Given the description of an element on the screen output the (x, y) to click on. 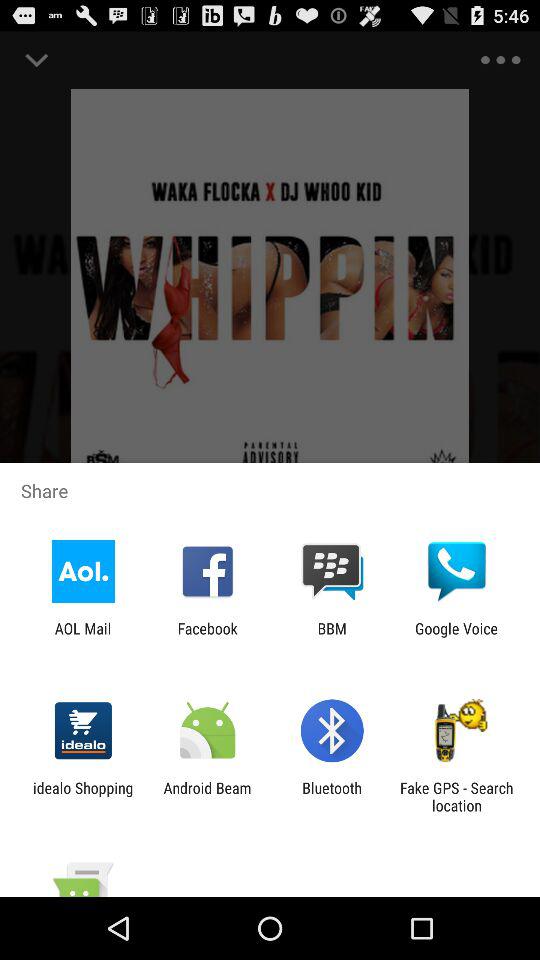
scroll to the google voice item (456, 637)
